Given the description of an element on the screen output the (x, y) to click on. 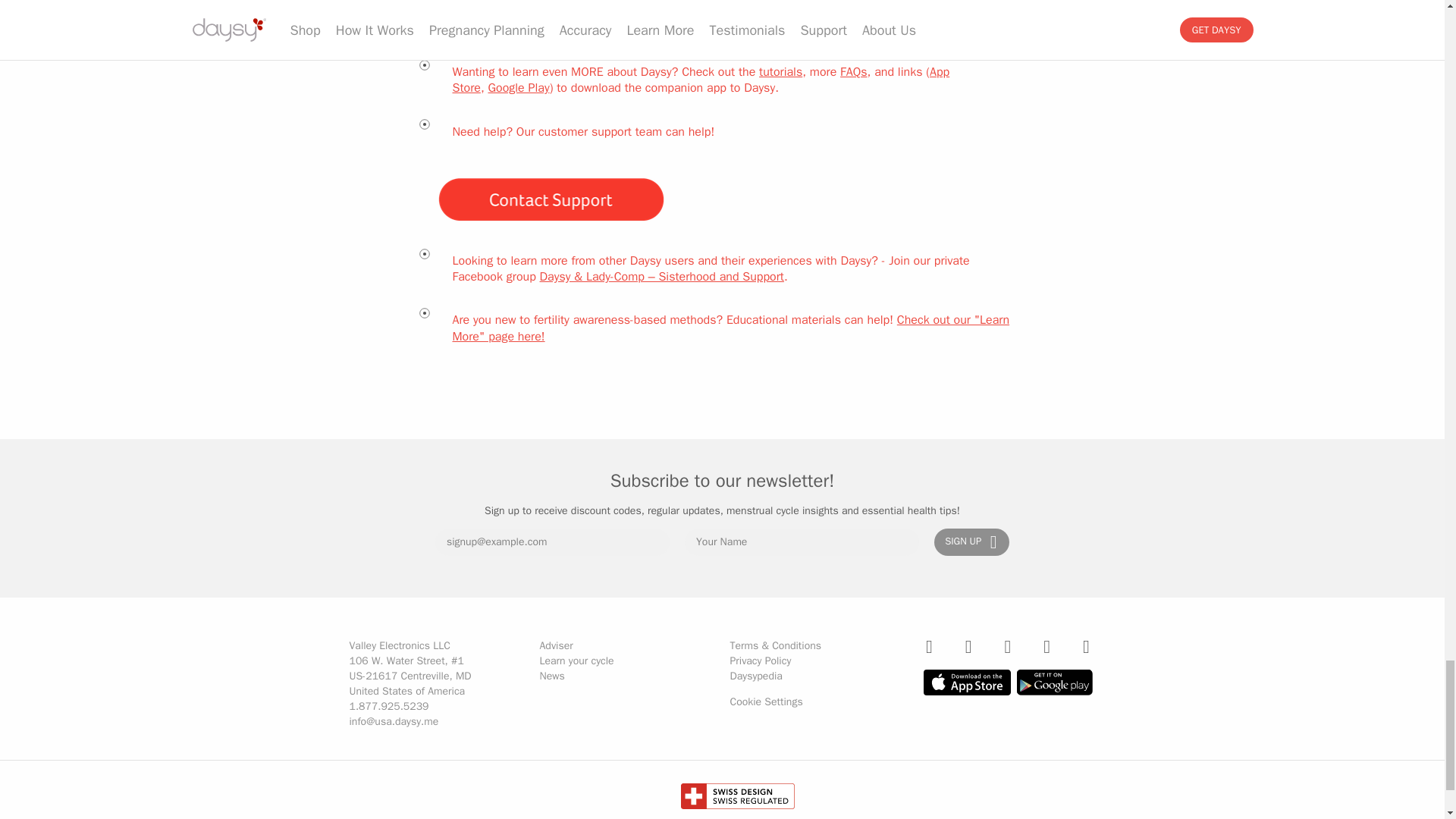
Visit us on Facebook (1007, 647)
Visit us on Linkedin (1047, 647)
Visit us on Instagram (929, 647)
Visit us on Pinterest (1085, 647)
Visit us on YouTube (967, 647)
